Given the description of an element on the screen output the (x, y) to click on. 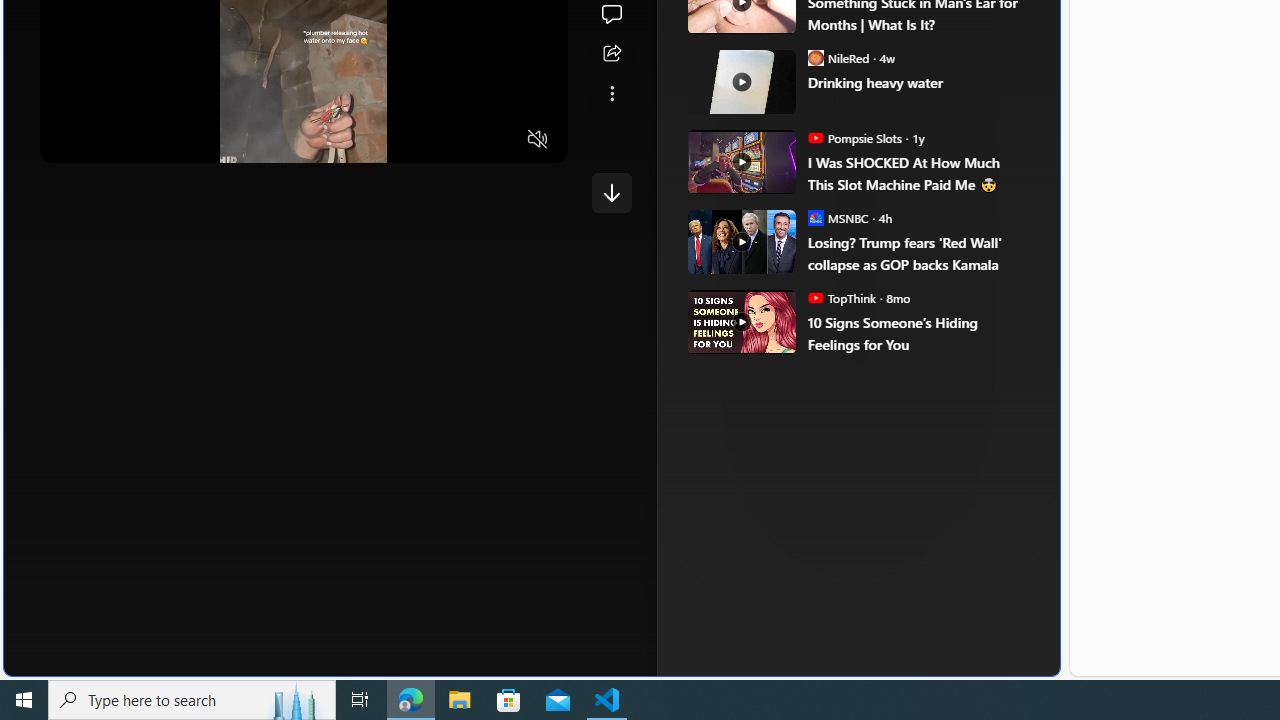
Drinking heavy water (742, 82)
NileRed NileRed (838, 57)
AutomationID: e5rZOEMGacU1 (611, 192)
Drinking heavy water (916, 83)
NileRed (816, 57)
Progress Bar (303, 115)
MSNBC (816, 218)
Pompsie Slots Pompsie Slots (854, 138)
TopThink (816, 298)
